Given the description of an element on the screen output the (x, y) to click on. 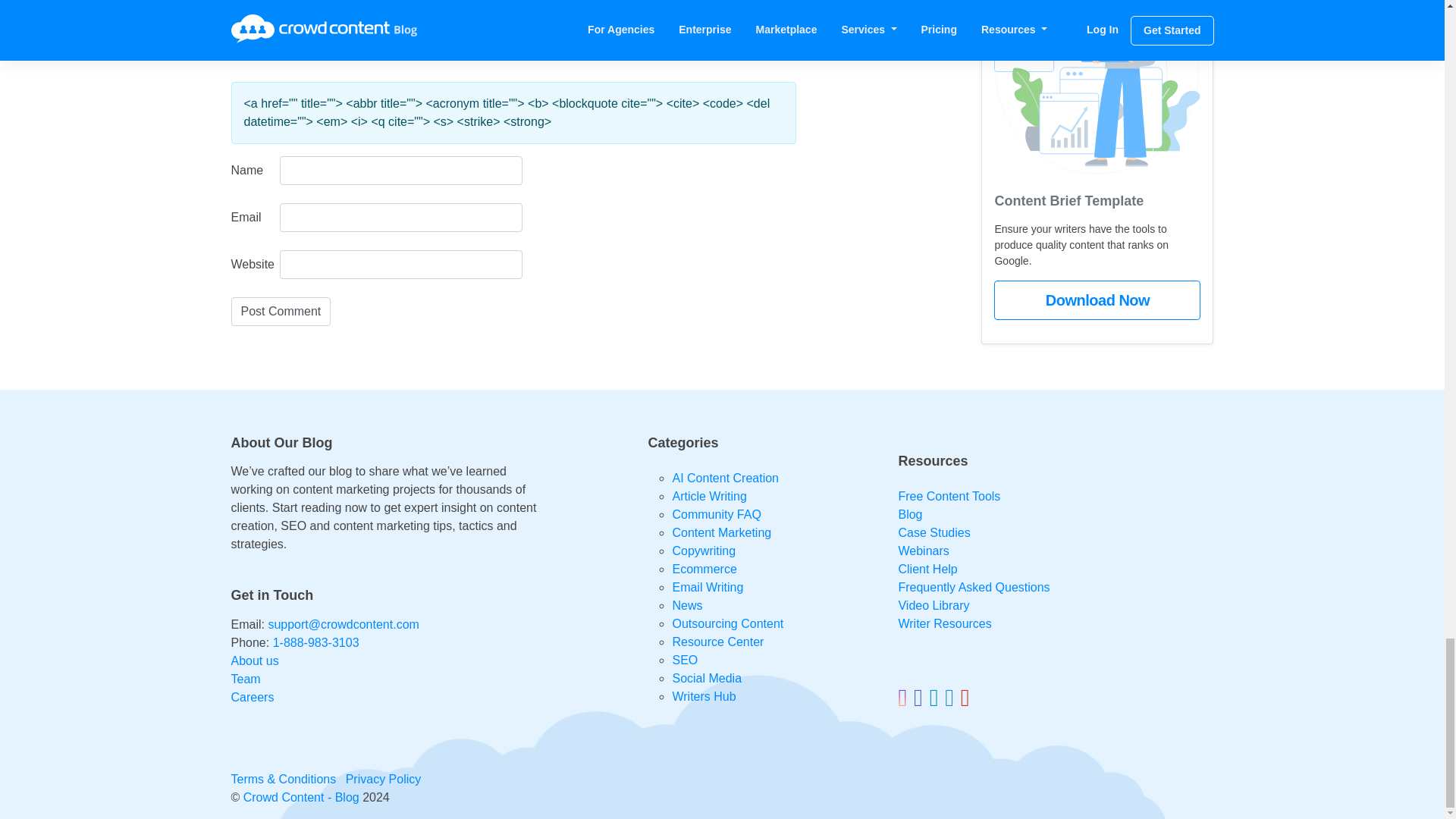
Post Comment (280, 311)
